Given the description of an element on the screen output the (x, y) to click on. 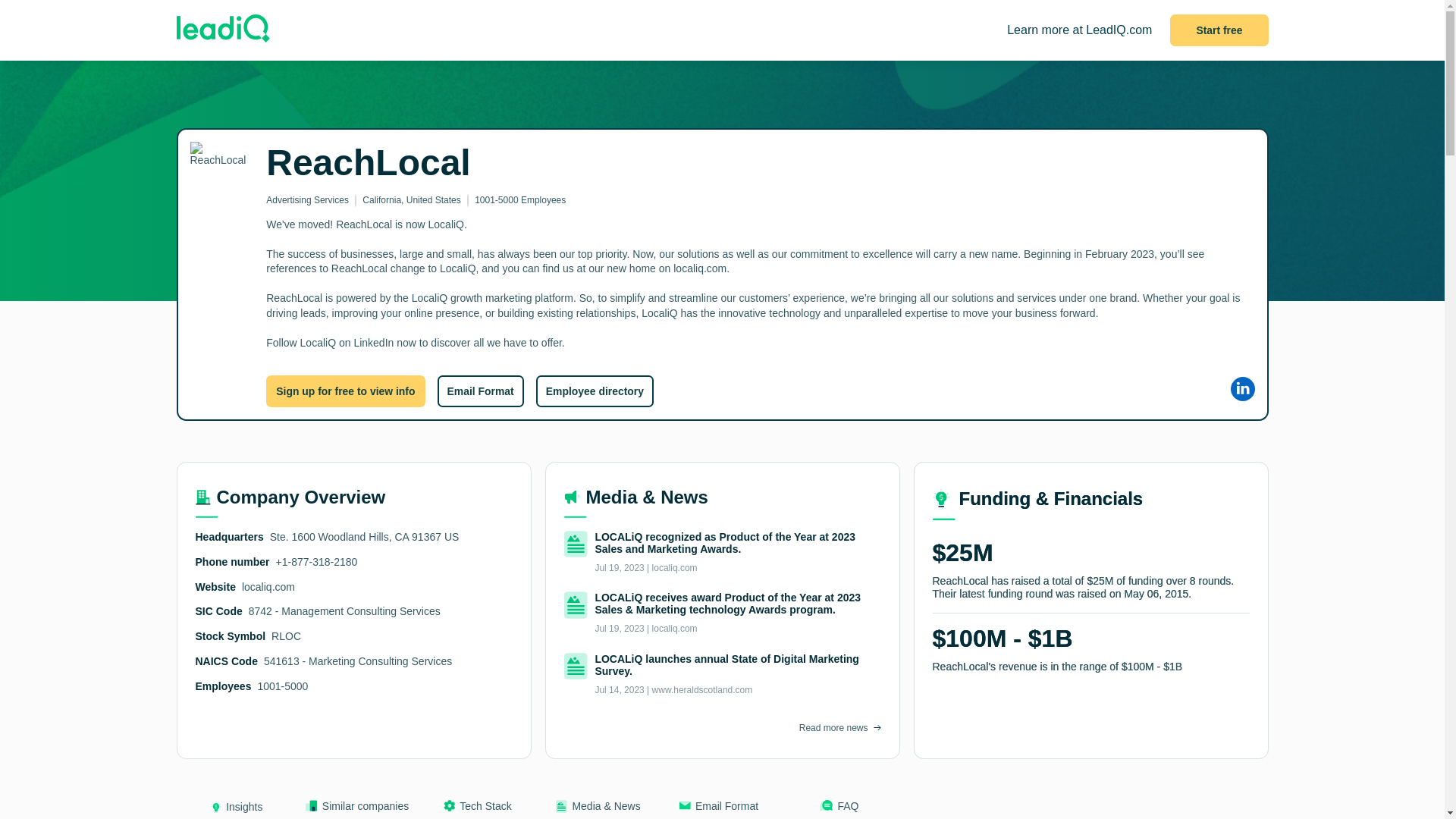
Tech Stack (476, 809)
Employee directory (594, 391)
Learn more at LeadIQ.com (1079, 29)
localiq.com (268, 586)
Email Format (718, 809)
Insights (236, 809)
Sign up for free to view info (345, 391)
Start free (1219, 29)
Similar companies (357, 809)
FAQ (838, 809)
